Given the description of an element on the screen output the (x, y) to click on. 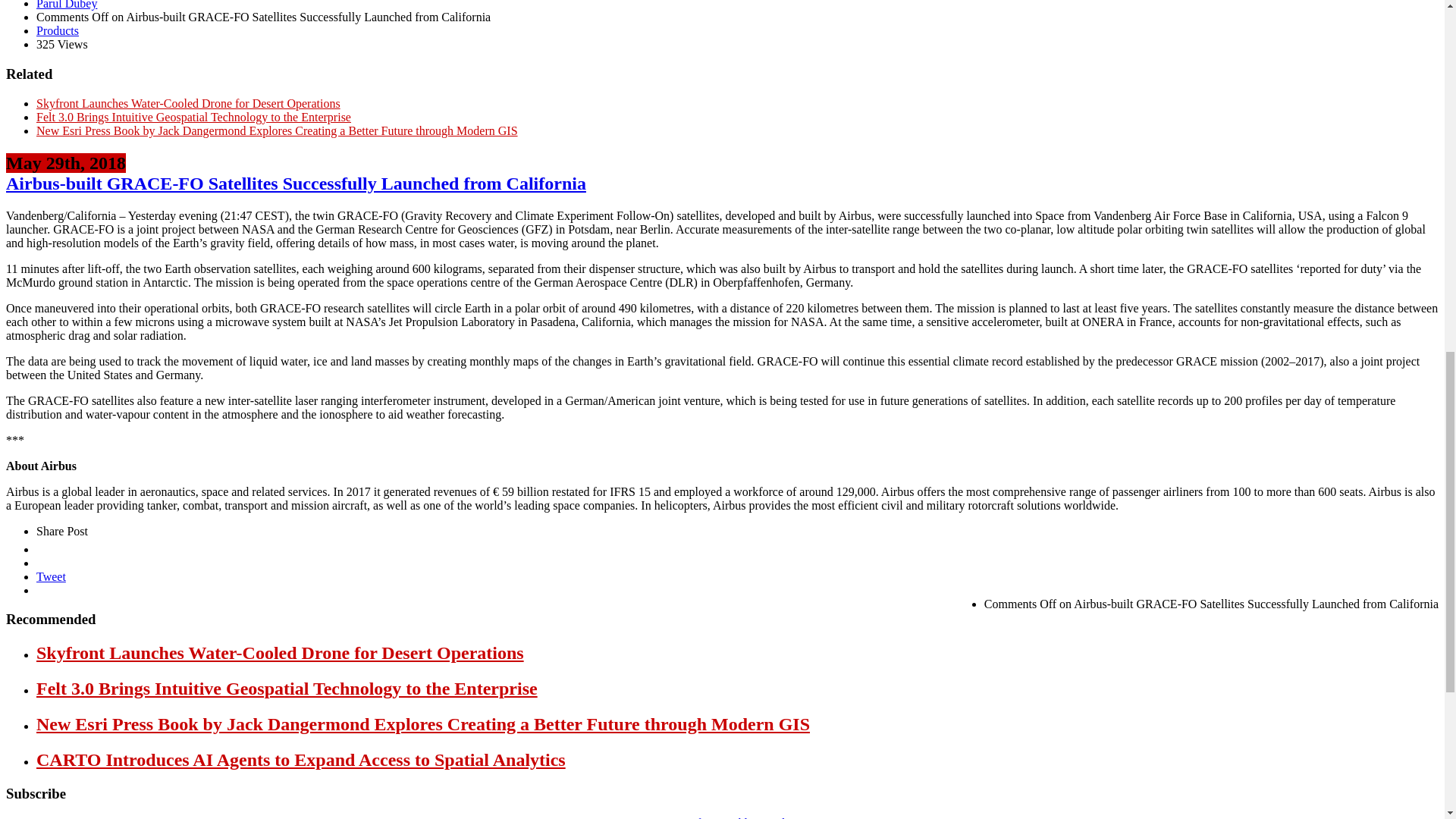
Skyfront Launches Water-Cooled Drone for Desert Operations (188, 103)
Posts by Parul Dubey (66, 4)
Skyfront Launches Water-Cooled Drone for Desert Operations (280, 652)
